Given the description of an element on the screen output the (x, y) to click on. 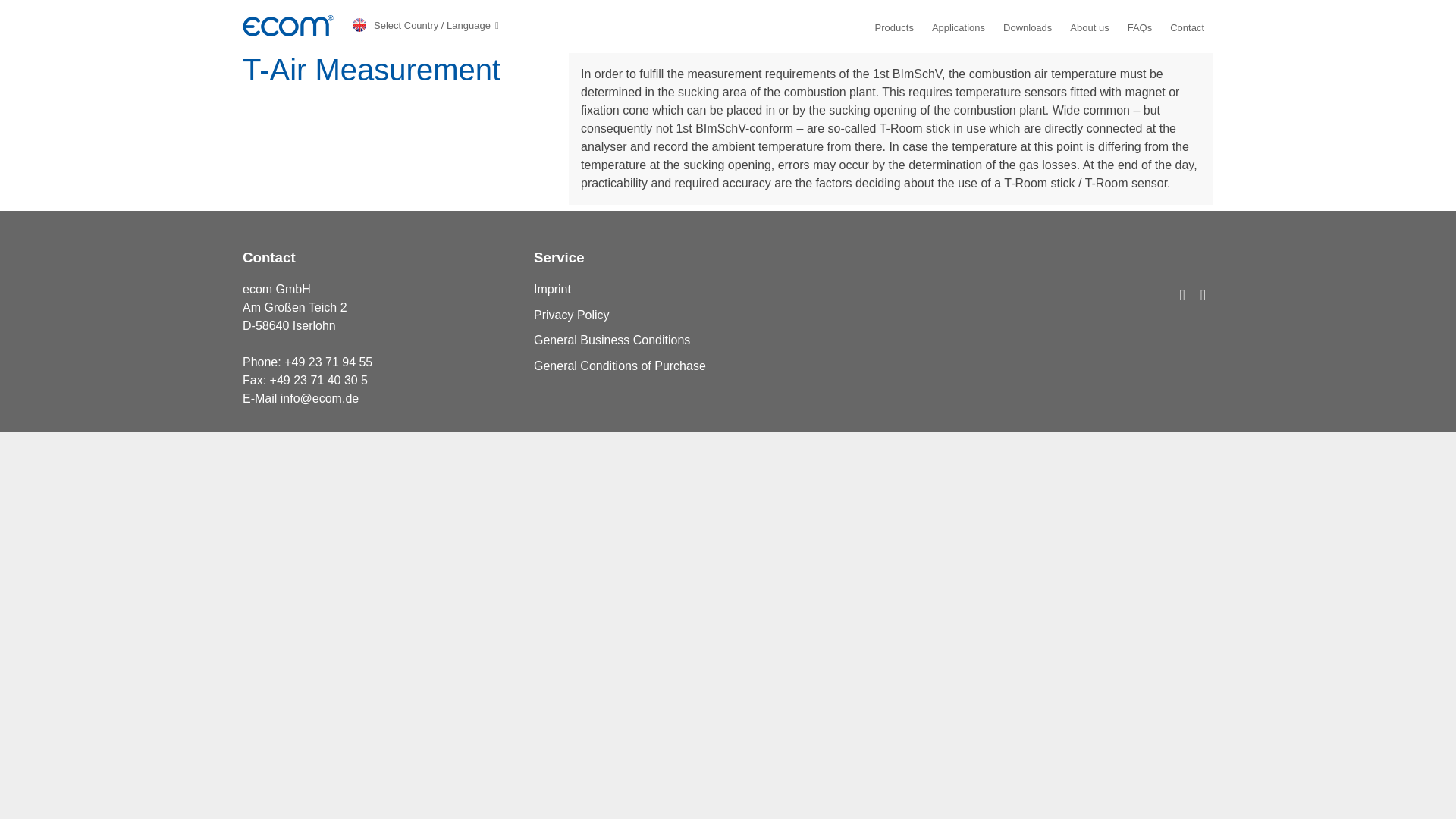
Downloads (1027, 27)
Products (894, 27)
Privacy Policy (572, 314)
Contact (1187, 27)
FAQs (1139, 27)
Logo (288, 25)
General Business Conditions (612, 339)
Applications (958, 27)
Imprint (552, 288)
About us (1089, 27)
General Conditions of Purchase (620, 365)
